Given the description of an element on the screen output the (x, y) to click on. 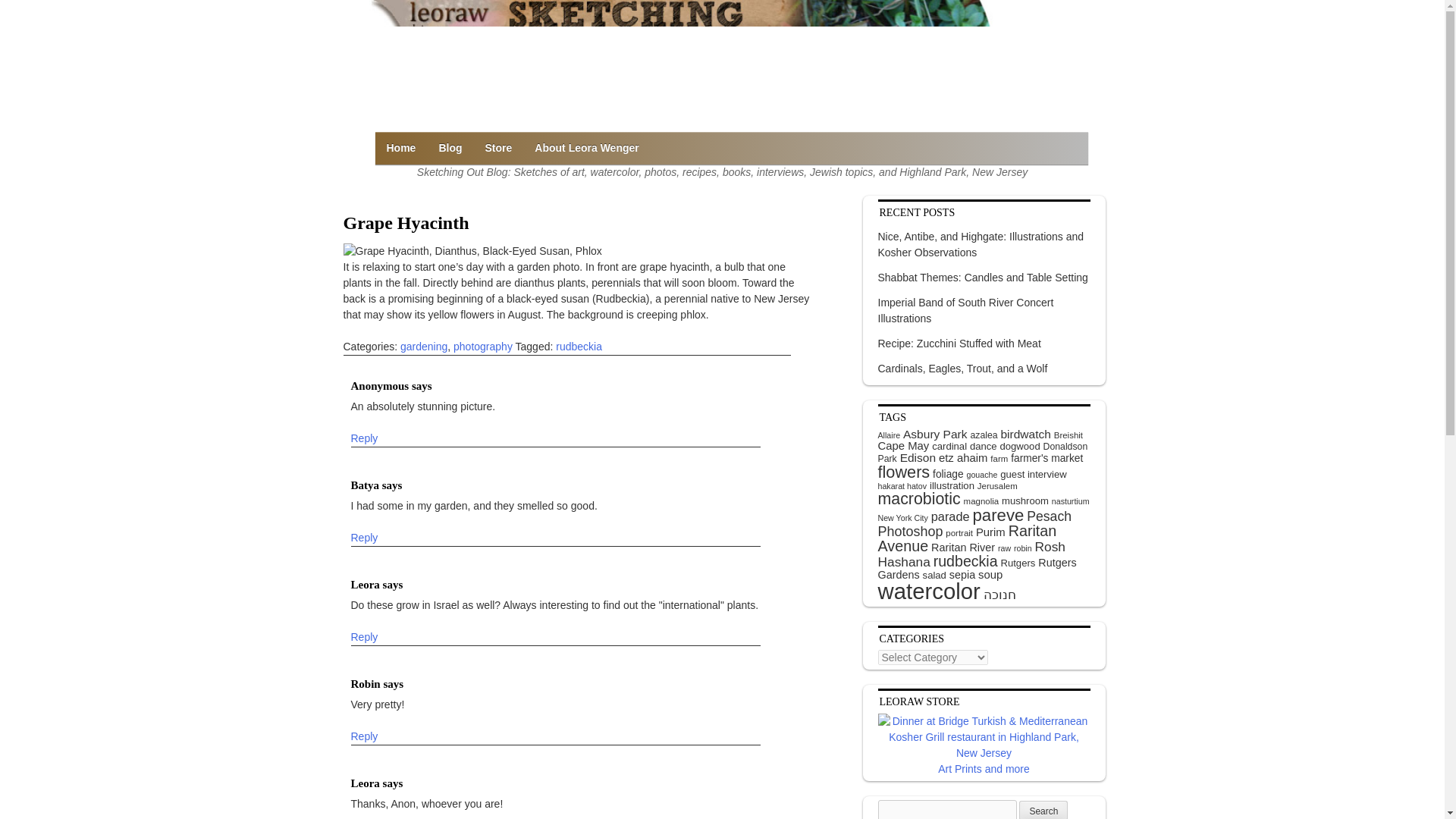
Reply (363, 636)
View all posts tagged rudbeckia (579, 346)
birdwatch (1024, 434)
Reply (363, 537)
Asbury Park (935, 434)
Cardinals, Eagles, Trout, and a Wolf (962, 368)
photography (482, 346)
Breishit (1068, 435)
Home (400, 147)
